Given the description of an element on the screen output the (x, y) to click on. 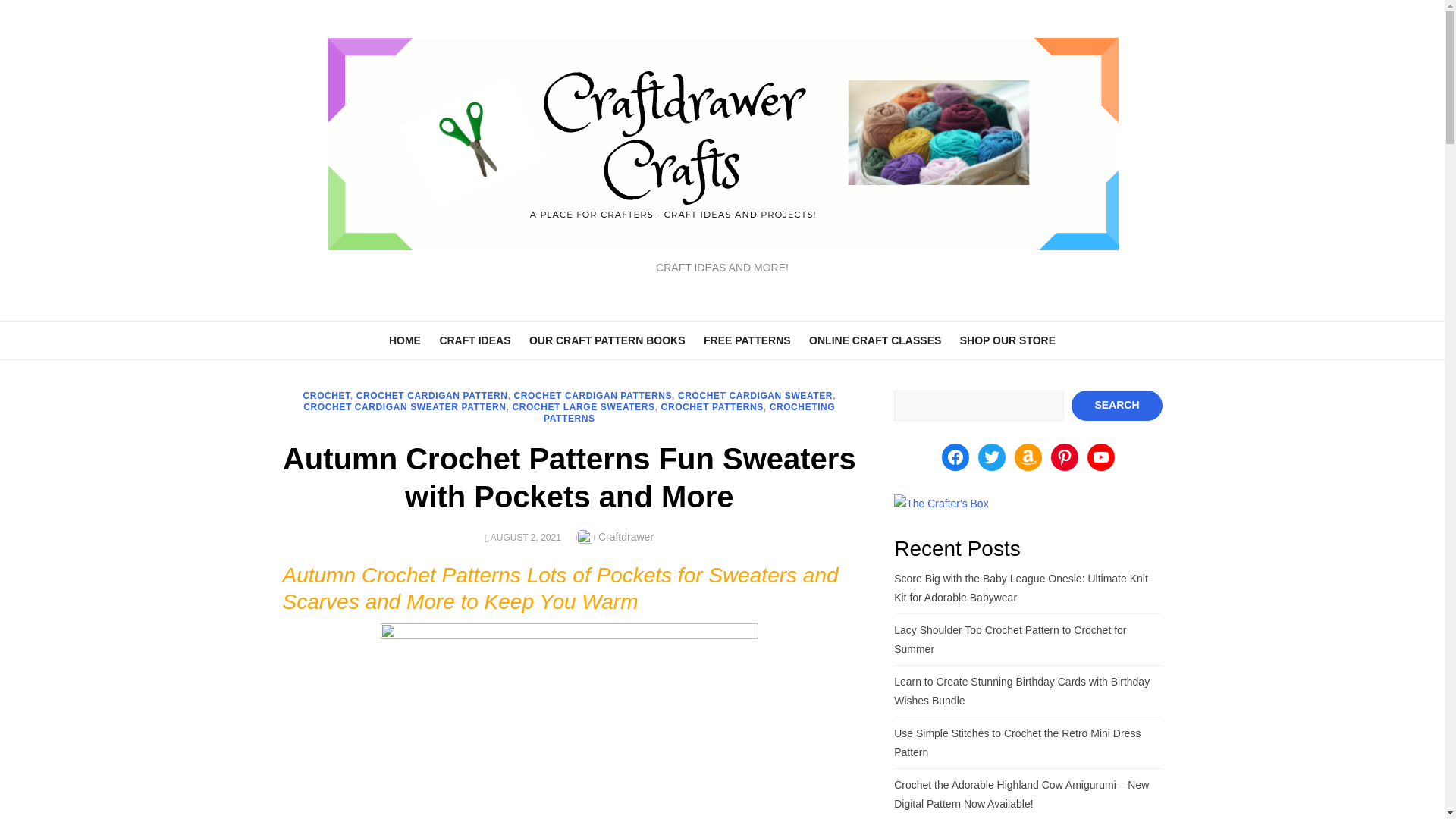
CROCHET CARDIGAN SWEATER PATTERN (403, 407)
CROCHET PATTERNS (711, 407)
HOME (404, 339)
CROCHET CARDIGAN PATTERNS (592, 394)
CROCHET LARGE SWEATERS (582, 407)
CROCHETING PATTERNS (688, 413)
SHOP OUR STORE (1007, 339)
Craftdrawer (625, 536)
CRAFT IDEAS (474, 339)
CROCHET (326, 394)
OUR CRAFT PATTERN BOOKS (607, 339)
FREE PATTERNS (746, 339)
ONLINE CRAFT CLASSES (875, 339)
CROCHET CARDIGAN SWEATER (755, 394)
CROCHET CARDIGAN PATTERN (432, 394)
